Given the description of an element on the screen output the (x, y) to click on. 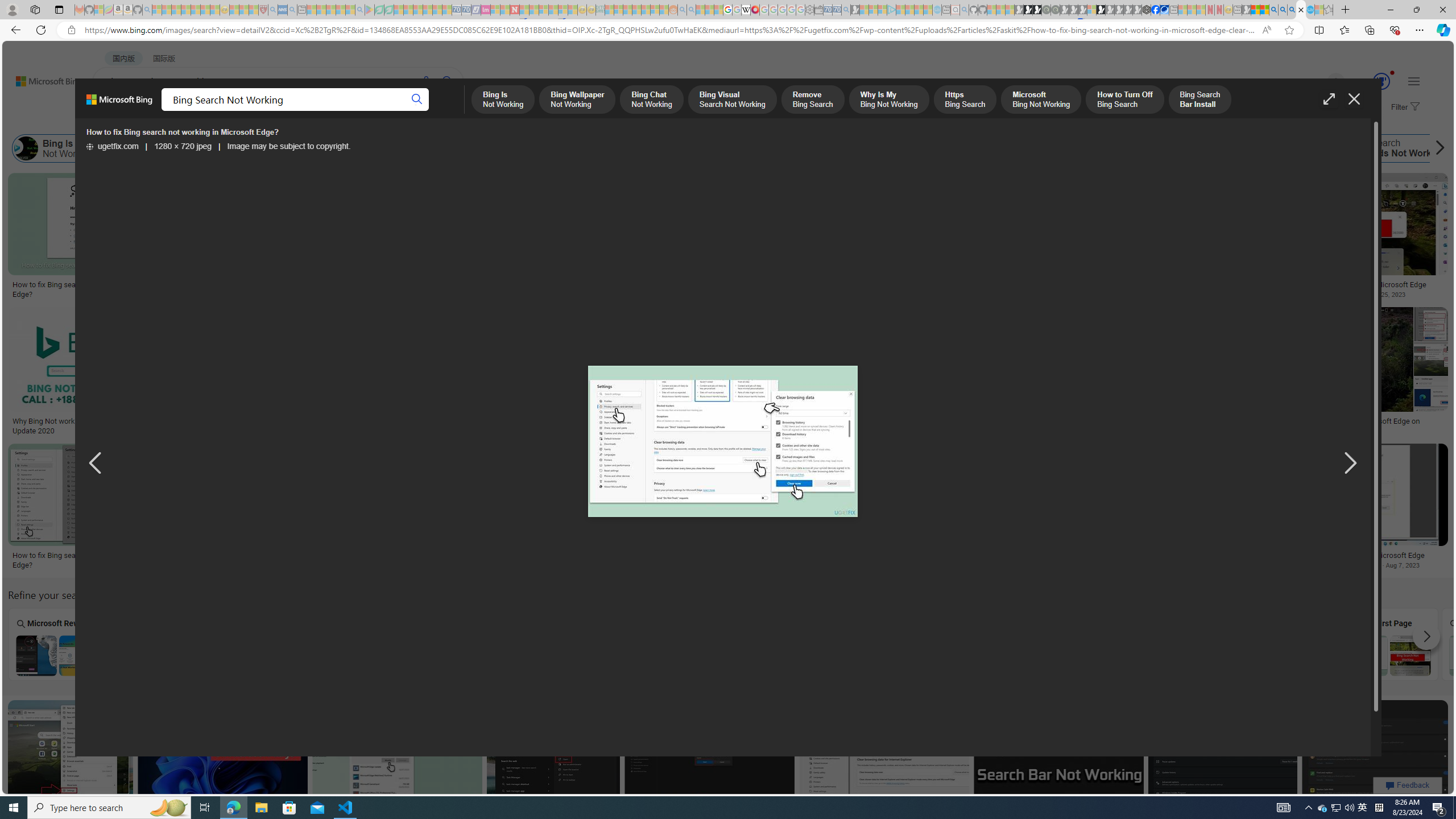
Bing Wallpaper Not Working (122, 148)
Image may be subject to copyright. (288, 146)
Remove Bing Search (461, 148)
Bing Tablet Search Not Working Tablet (364, 643)
Https Bing Search (673, 148)
Bing Search Not Working Properly Properly (569, 643)
Fix Bing Search Not Working In Microsoft Edge (1358, 284)
Class: b_pri_nav_svg (240, 112)
